Given the description of an element on the screen output the (x, y) to click on. 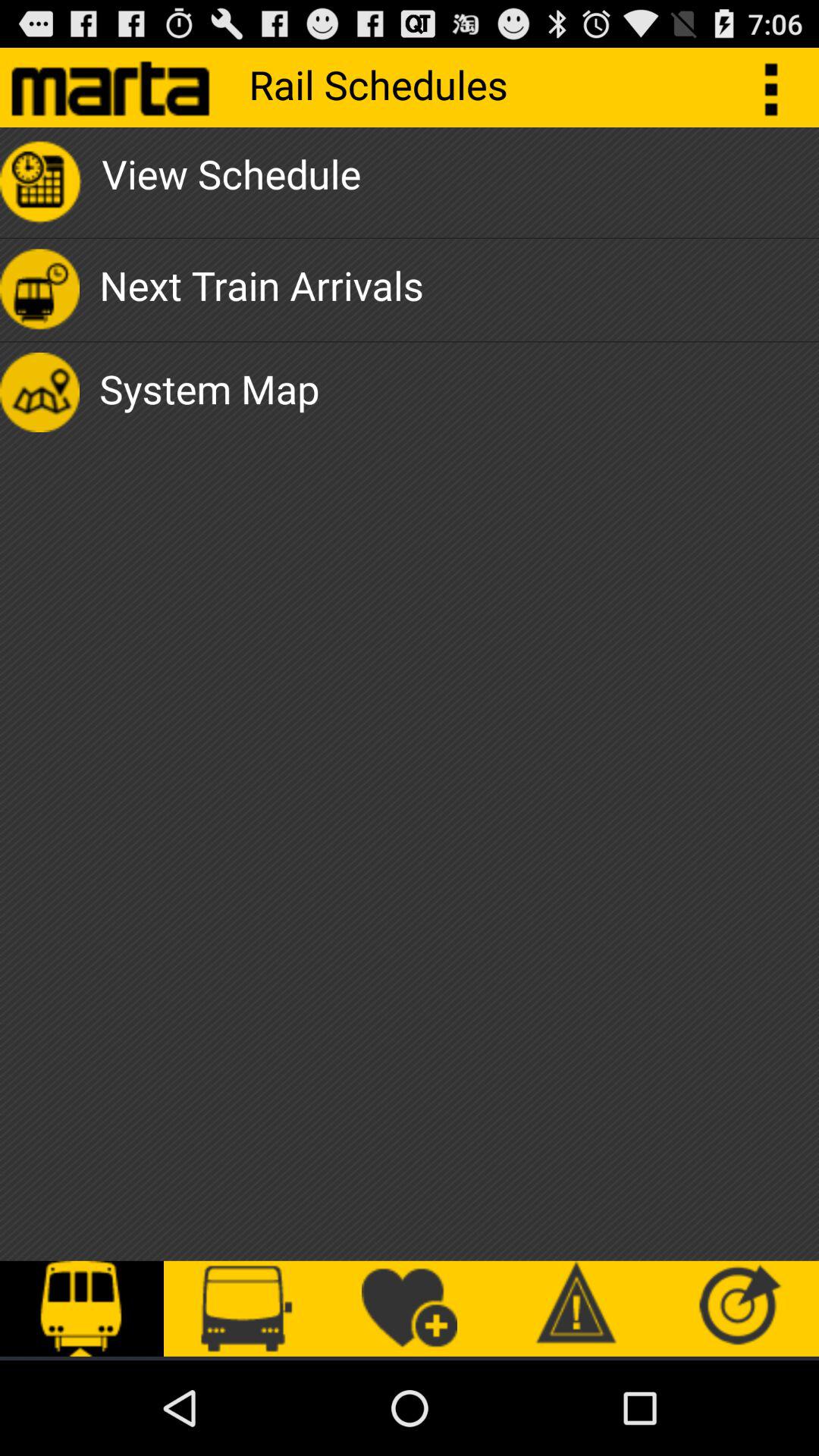
launch icon below next train arrivals app (209, 392)
